Given the description of an element on the screen output the (x, y) to click on. 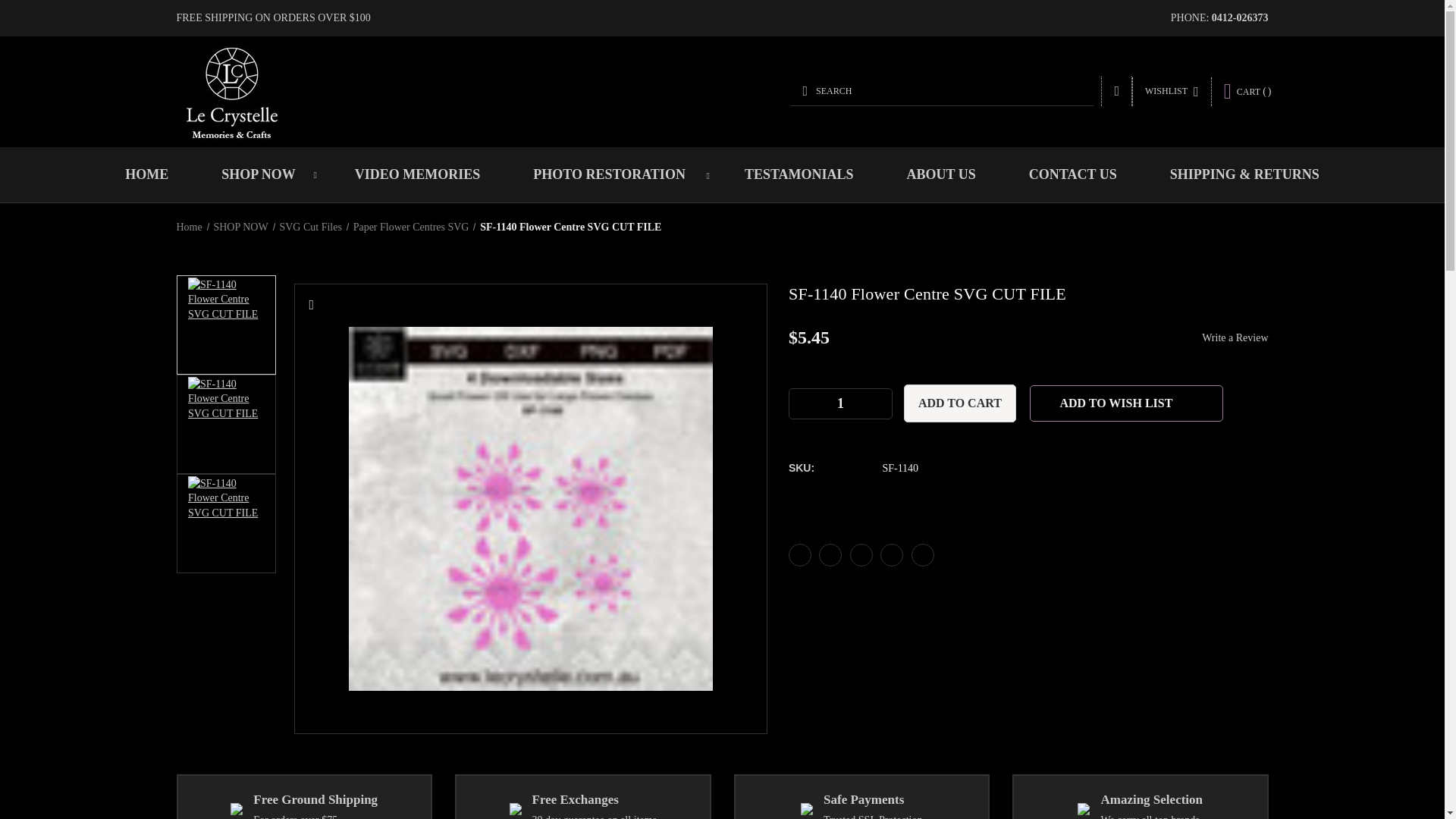
1 (840, 403)
SHOP NOW (262, 174)
lecrystelle (230, 91)
0412-026373 (1239, 17)
SEARCH (941, 90)
Free Ground Shipping (236, 808)
Free Exchanges (515, 808)
Safe Payments (806, 808)
CART (1247, 91)
Add to Cart (960, 403)
WISHLIST (1171, 91)
Amazing Selection (1083, 808)
HOME (147, 174)
